Given the description of an element on the screen output the (x, y) to click on. 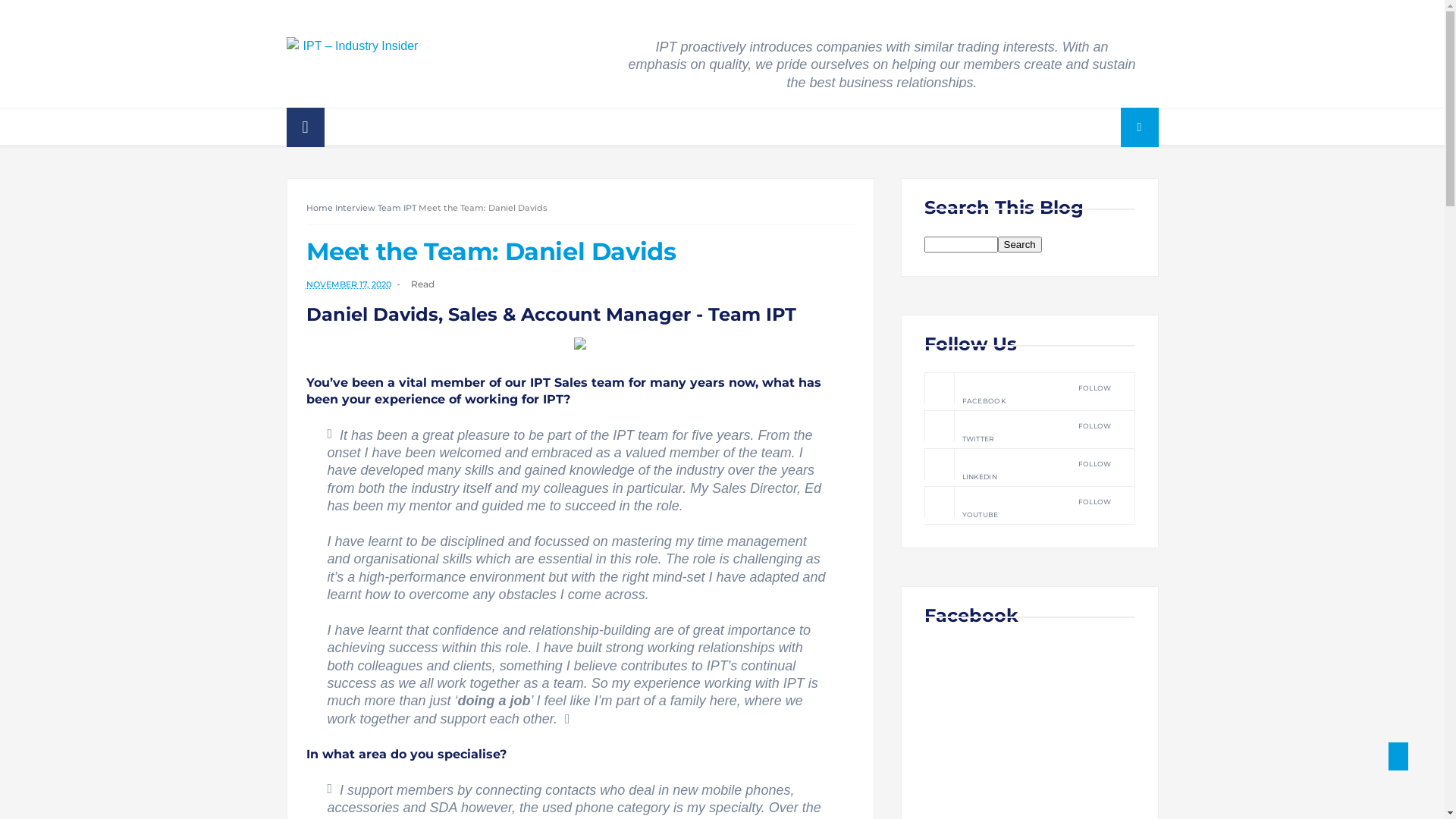
search Element type: hover (960, 244)
Interview Element type: text (355, 207)
Team IPT Element type: text (396, 207)
NOVEMBER 17, 2020 Element type: text (355, 284)
YOUTUBE
FOLLOW Element type: text (1028, 505)
Back to Top Element type: hover (1398, 756)
Search Element type: text (1019, 244)
LINKEDIN
FOLLOW Element type: text (1028, 467)
Home Element type: text (319, 207)
FACEBOOK
FOLLOW Element type: text (1028, 391)
TWITTER
FOLLOW Element type: text (1028, 429)
search Element type: hover (1019, 244)
